Given the description of an element on the screen output the (x, y) to click on. 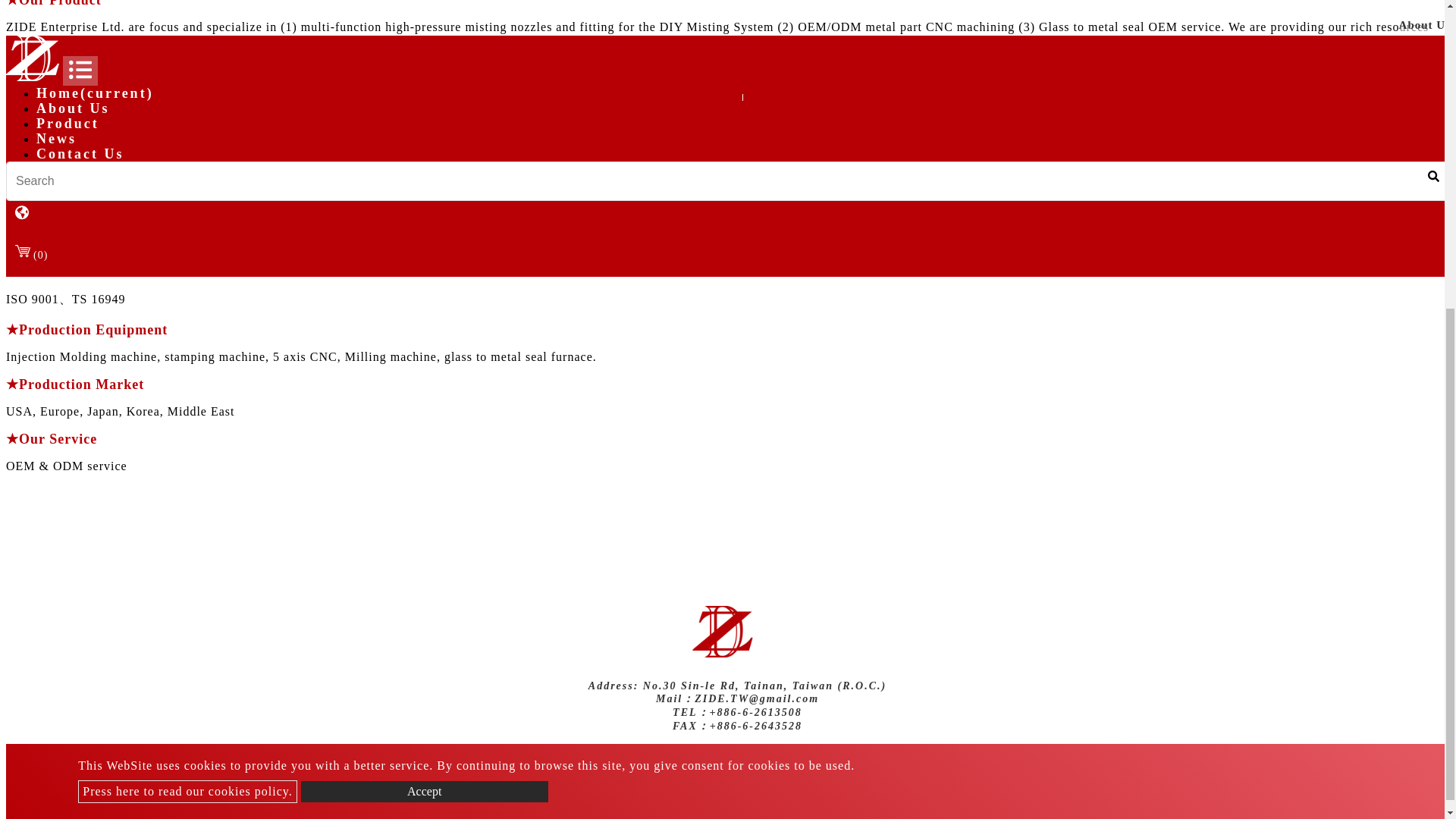
Press here to read our cookies policy. (187, 295)
Accept (424, 295)
SiteMap (914, 753)
Atteipo. (859, 753)
